Given the description of an element on the screen output the (x, y) to click on. 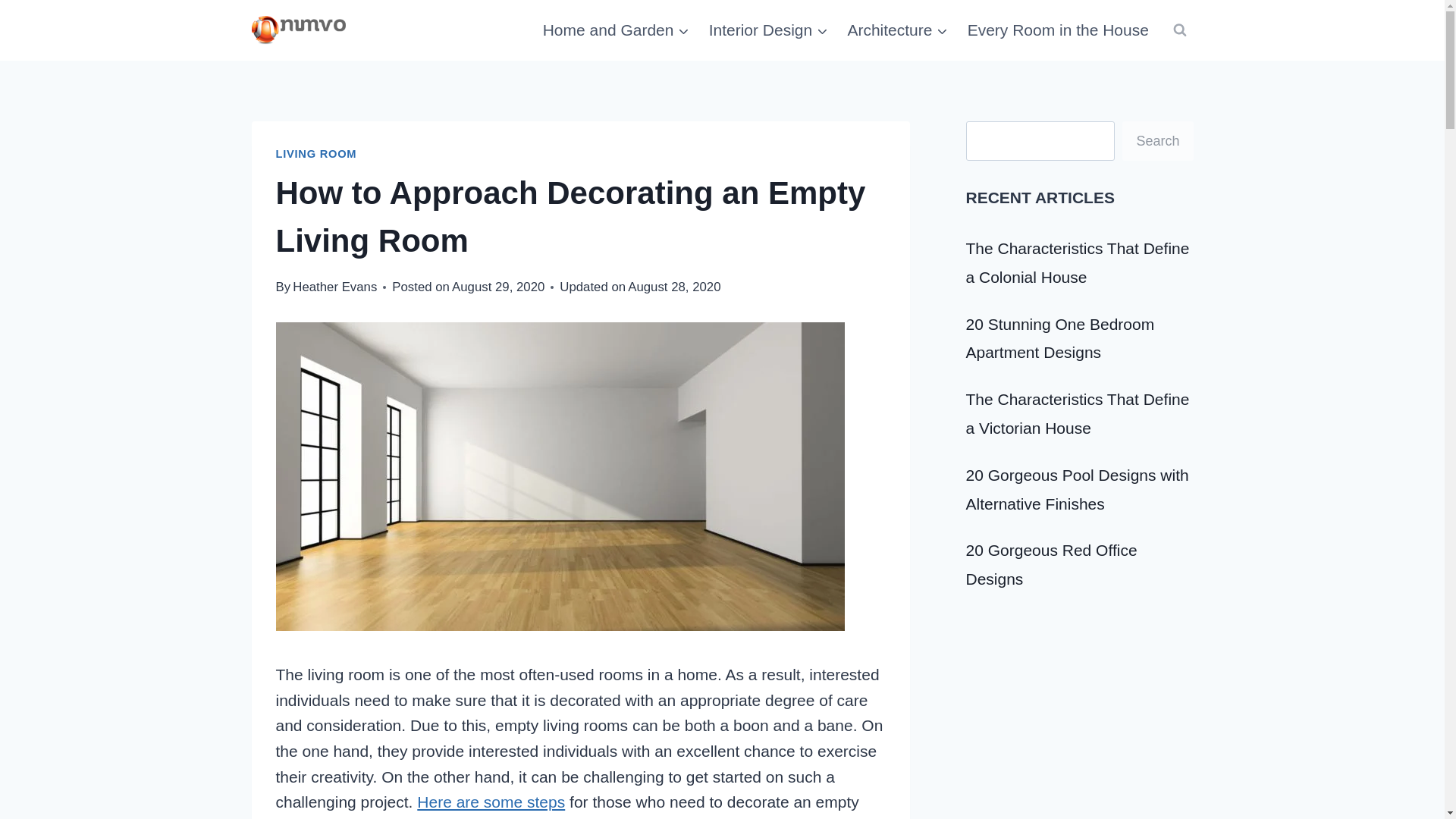
LIVING ROOM (316, 153)
Every Room in the House (1057, 30)
Heather Evans (334, 287)
Architecture (898, 30)
Interior Design (768, 30)
Here are some steps (490, 801)
Home and Garden (615, 30)
